Given the description of an element on the screen output the (x, y) to click on. 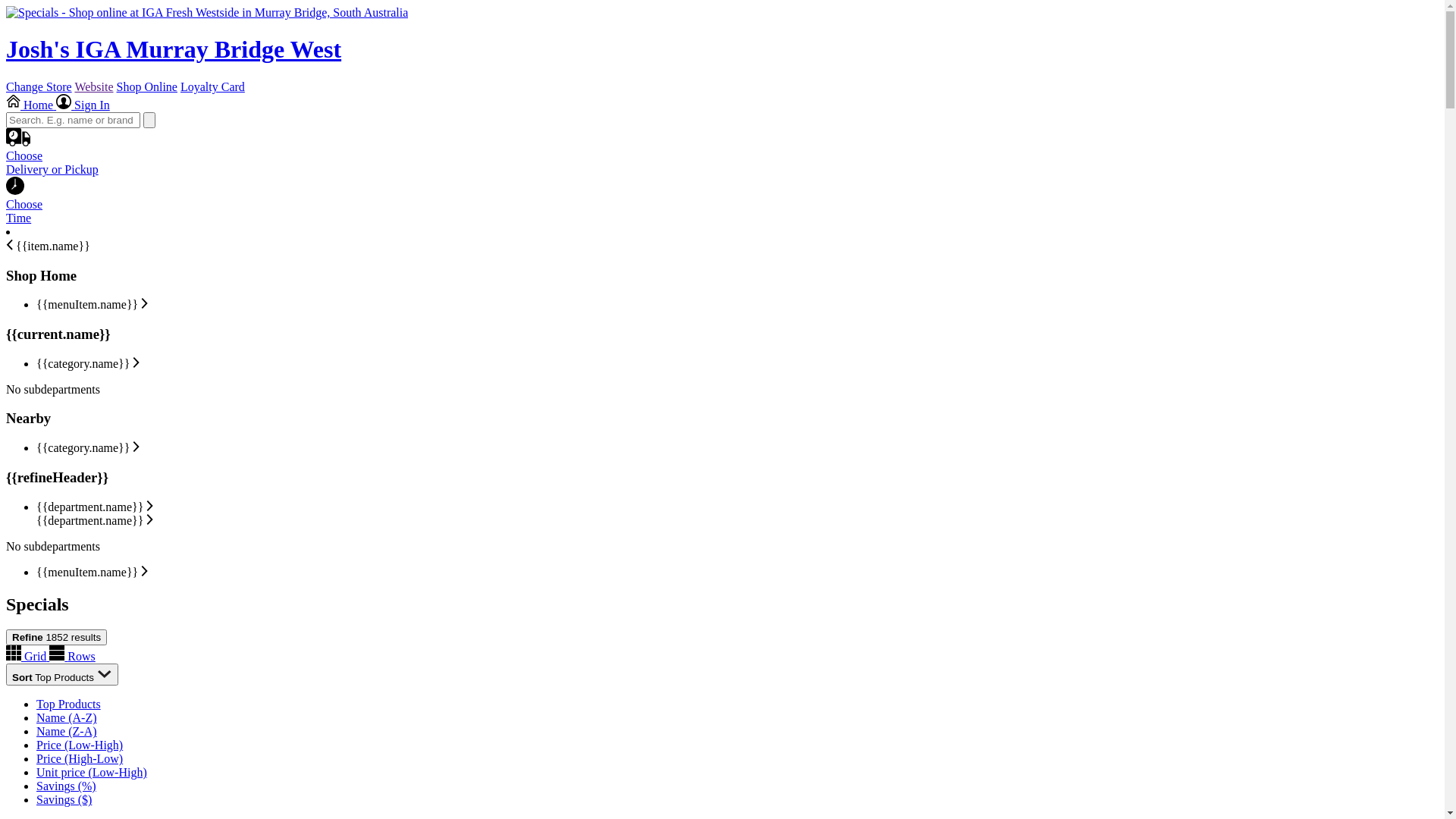
Sign In Element type: text (82, 104)
Search Element type: hover (149, 120)
Loyalty Card Element type: text (212, 86)
Top Products Element type: text (68, 703)
Choose
Time Element type: text (722, 204)
Grid Element type: text (27, 655)
Name (A-Z) Element type: text (66, 717)
Home Element type: text (31, 104)
Sort Top Products Element type: text (62, 674)
Unit price (Low-High) Element type: text (91, 771)
Name (Z-A) Element type: text (66, 730)
Choose
Delivery or Pickup Element type: text (722, 166)
Rows Element type: text (71, 655)
Website Element type: text (93, 86)
Change Store Element type: text (39, 86)
Price (High-Low) Element type: text (79, 758)
Savings ($) Element type: text (63, 799)
Price (Low-High) Element type: text (79, 744)
Savings (%) Element type: text (66, 785)
Refine 1852 results Element type: text (56, 637)
Shop Online Element type: text (146, 86)
Josh's IGA Murray Bridge West Element type: text (722, 34)
